Given the description of an element on the screen output the (x, y) to click on. 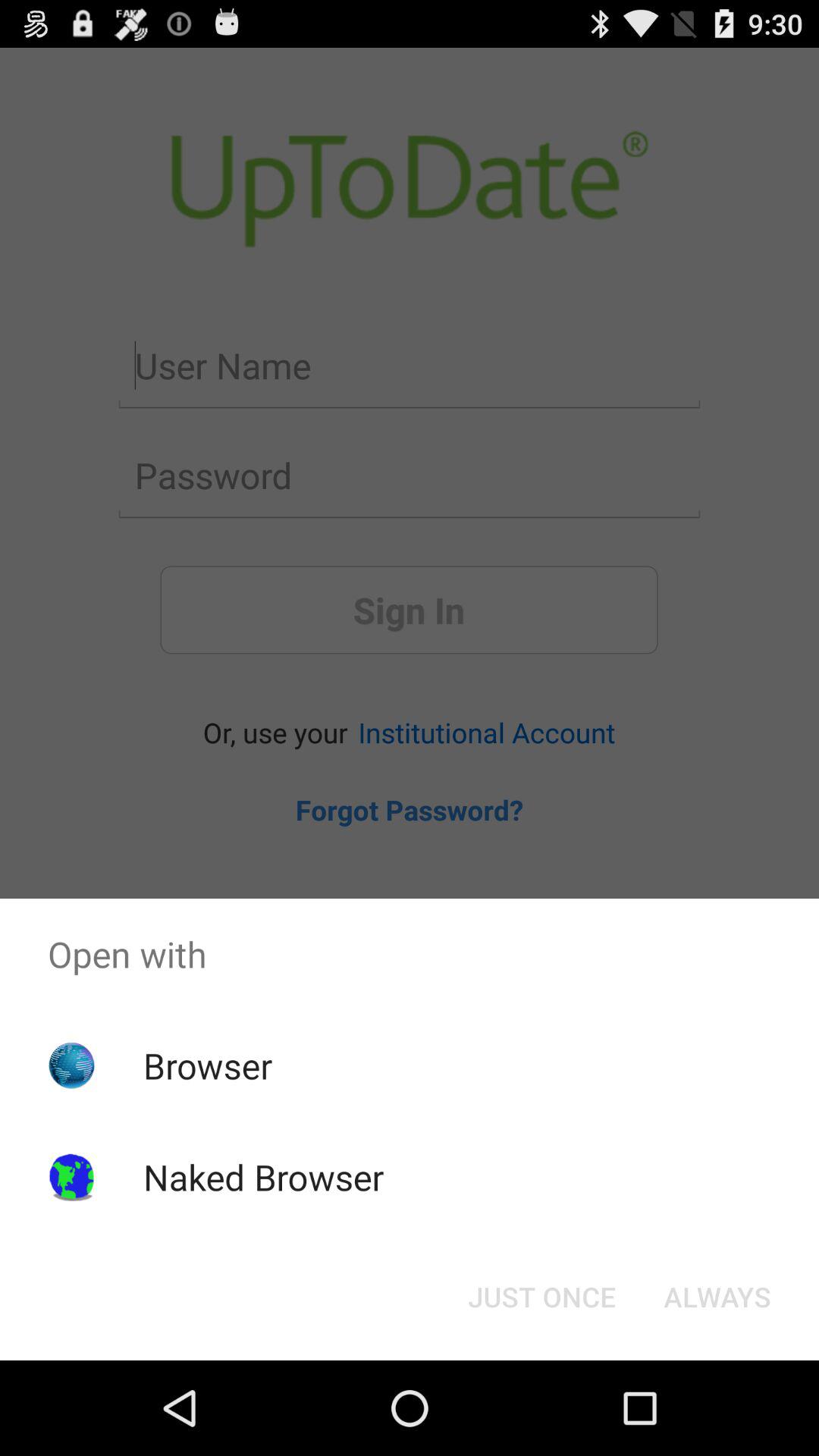
click icon below open with icon (717, 1296)
